Given the description of an element on the screen output the (x, y) to click on. 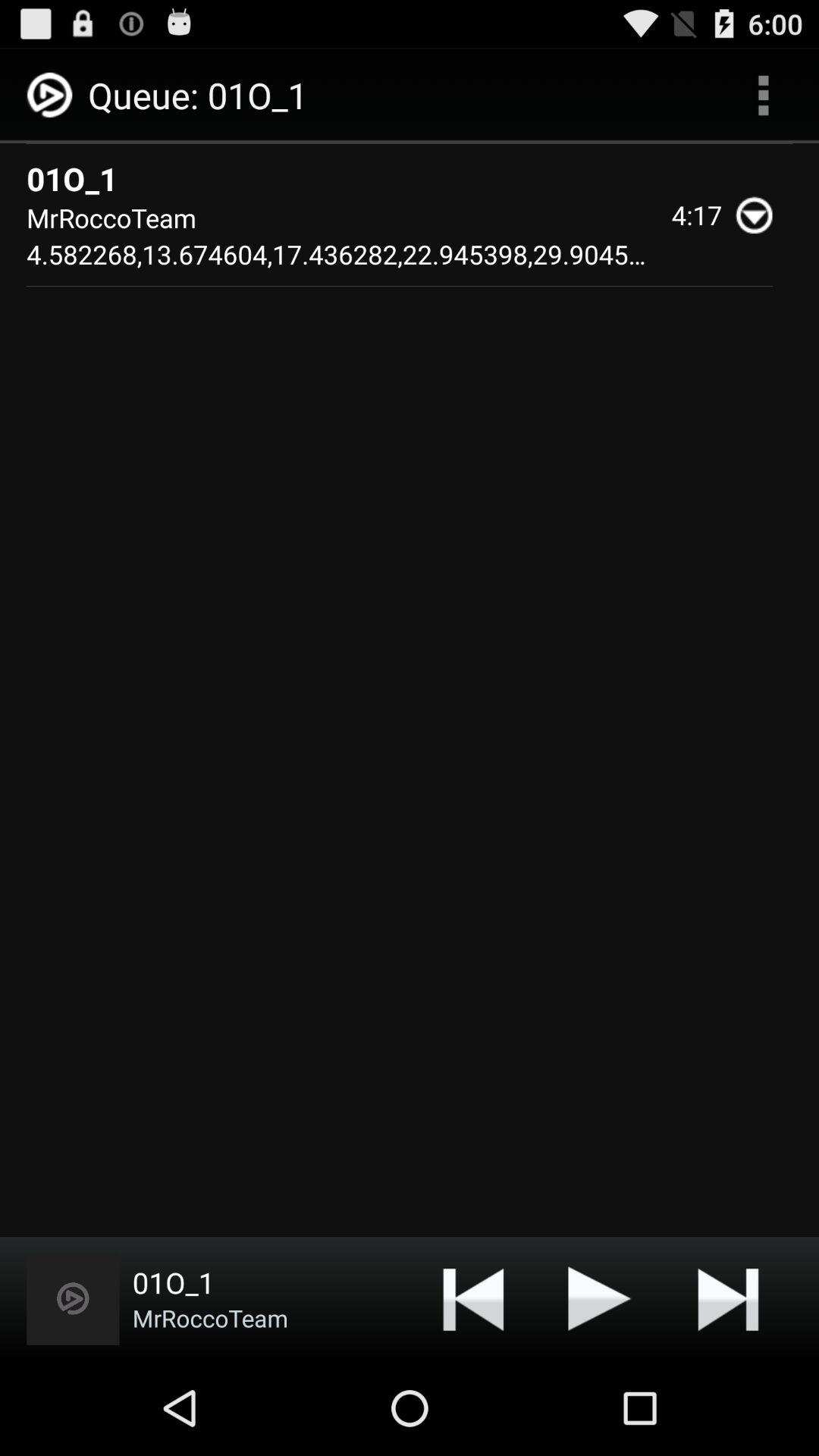
fast forward (728, 1298)
